Given the description of an element on the screen output the (x, y) to click on. 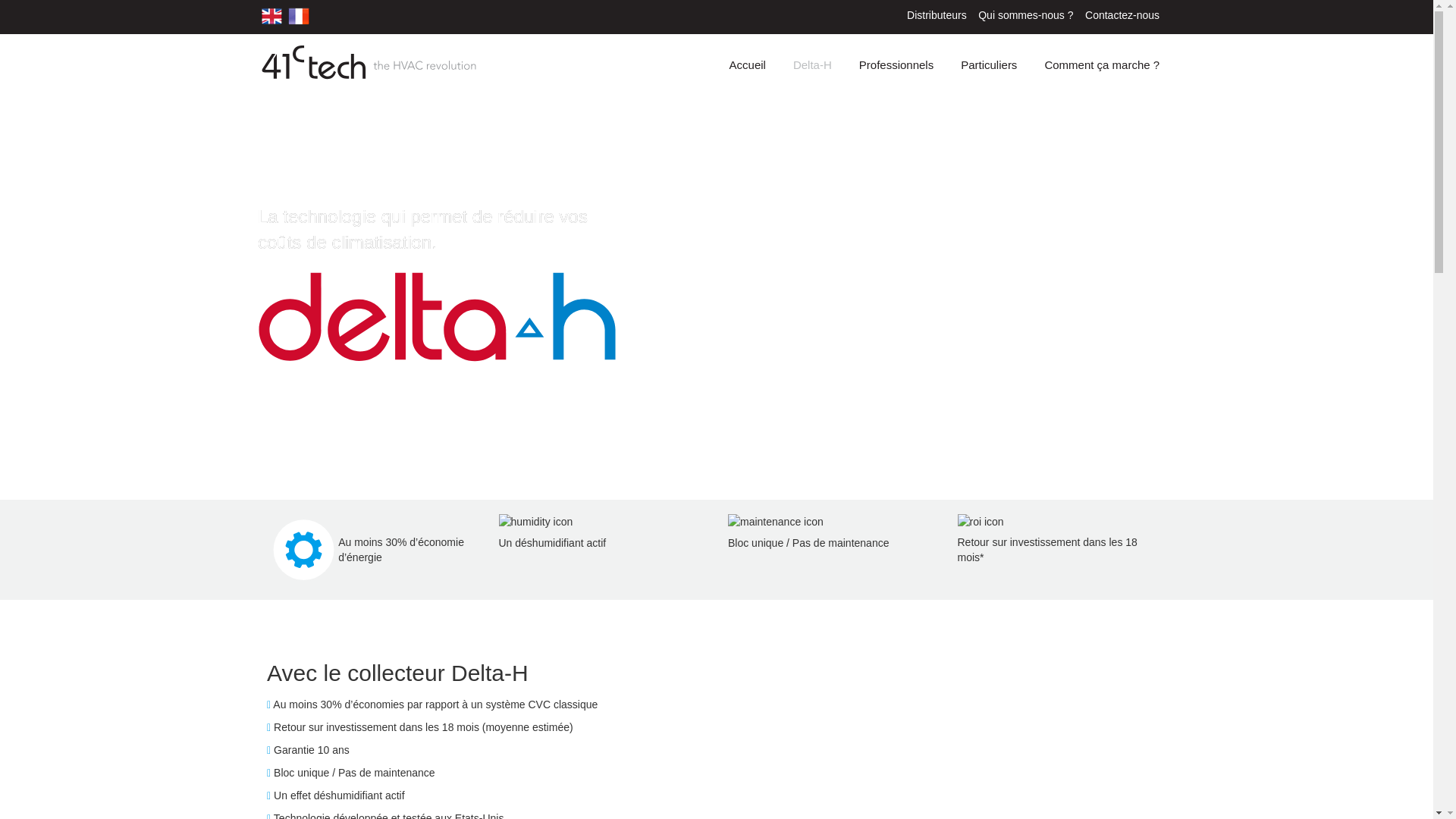
Qui sommes-nous ? Element type: text (1025, 15)
Contactez-nous Element type: text (1122, 15)
Particuliers Element type: text (988, 64)
Delta-H Element type: text (812, 64)
Accueil Element type: text (747, 64)
Distributeurs Element type: text (936, 15)
Professionnels Element type: text (895, 64)
